Given the description of an element on the screen output the (x, y) to click on. 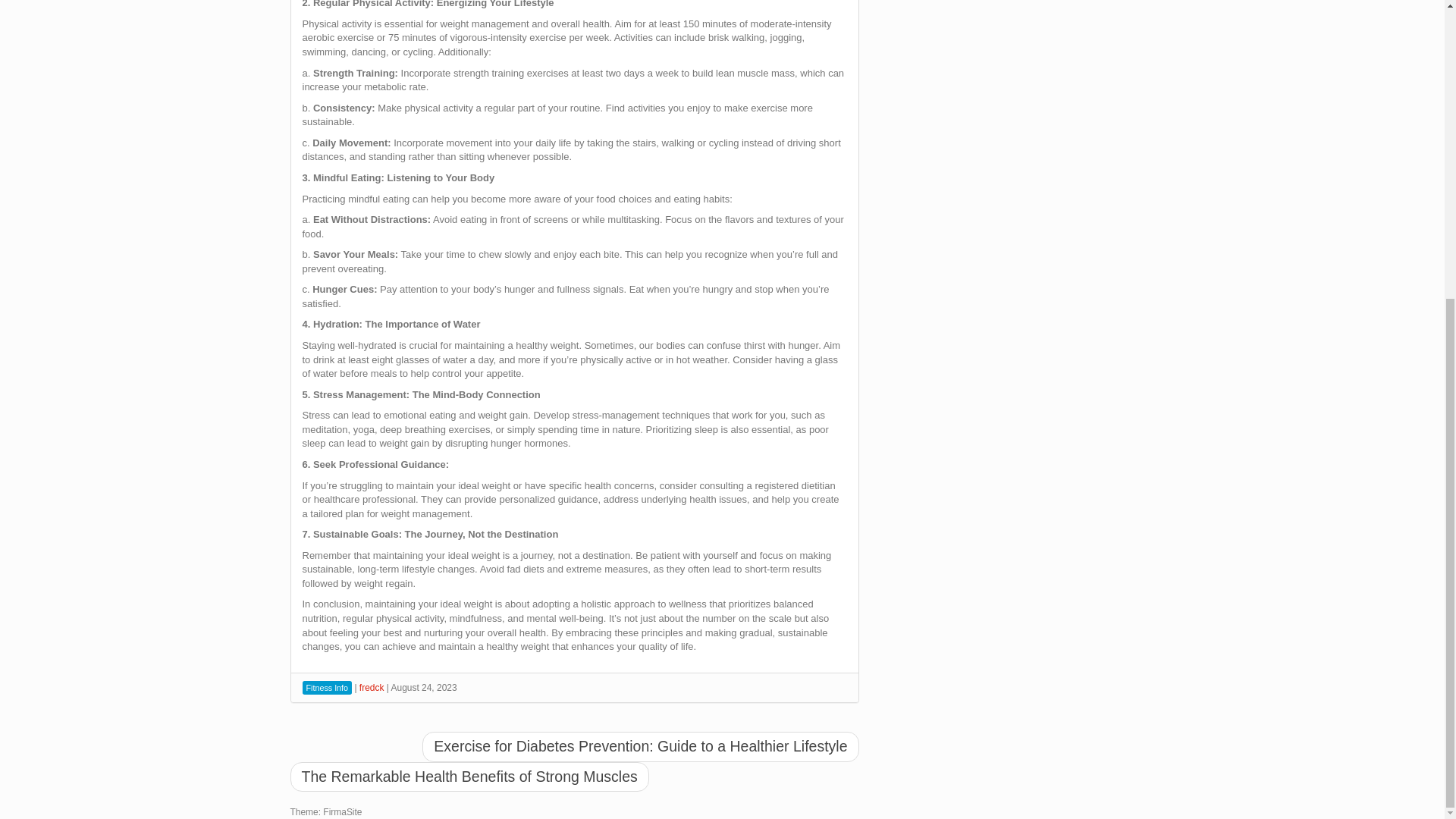
fredck (371, 687)
Fitness Info (326, 687)
FirmaSite (342, 811)
The Remarkable Health Benefits of Strong Muscles (468, 776)
